Given the description of an element on the screen output the (x, y) to click on. 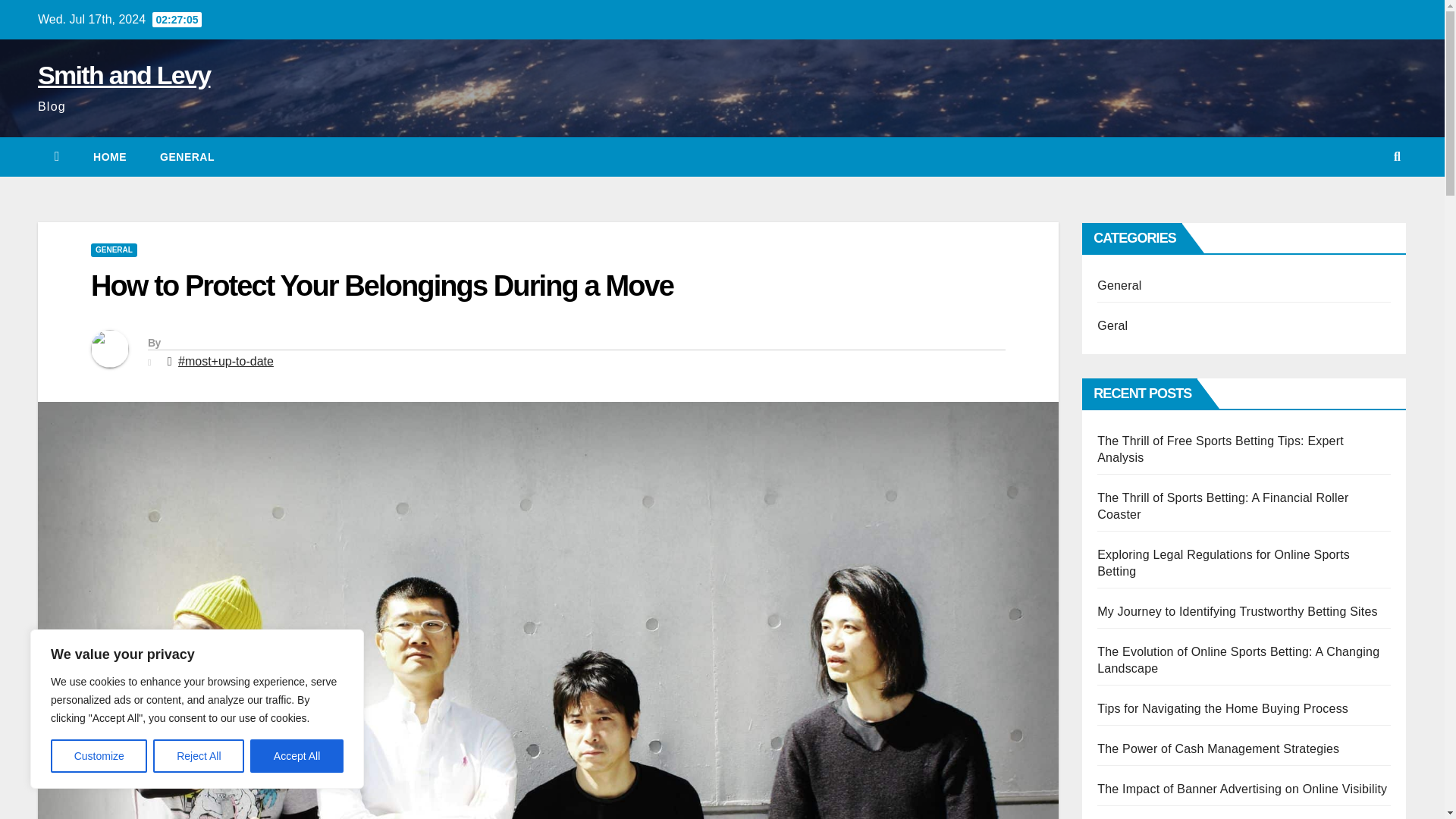
General (186, 156)
Reject All (198, 756)
Smith and Levy (123, 74)
Permalink to: How to Protect Your Belongings During a Move (381, 286)
Customize (98, 756)
GENERAL (186, 156)
How to Protect Your Belongings During a Move (381, 286)
GENERAL (113, 250)
Accept All (296, 756)
Home (109, 156)
HOME (109, 156)
